Given the description of an element on the screen output the (x, y) to click on. 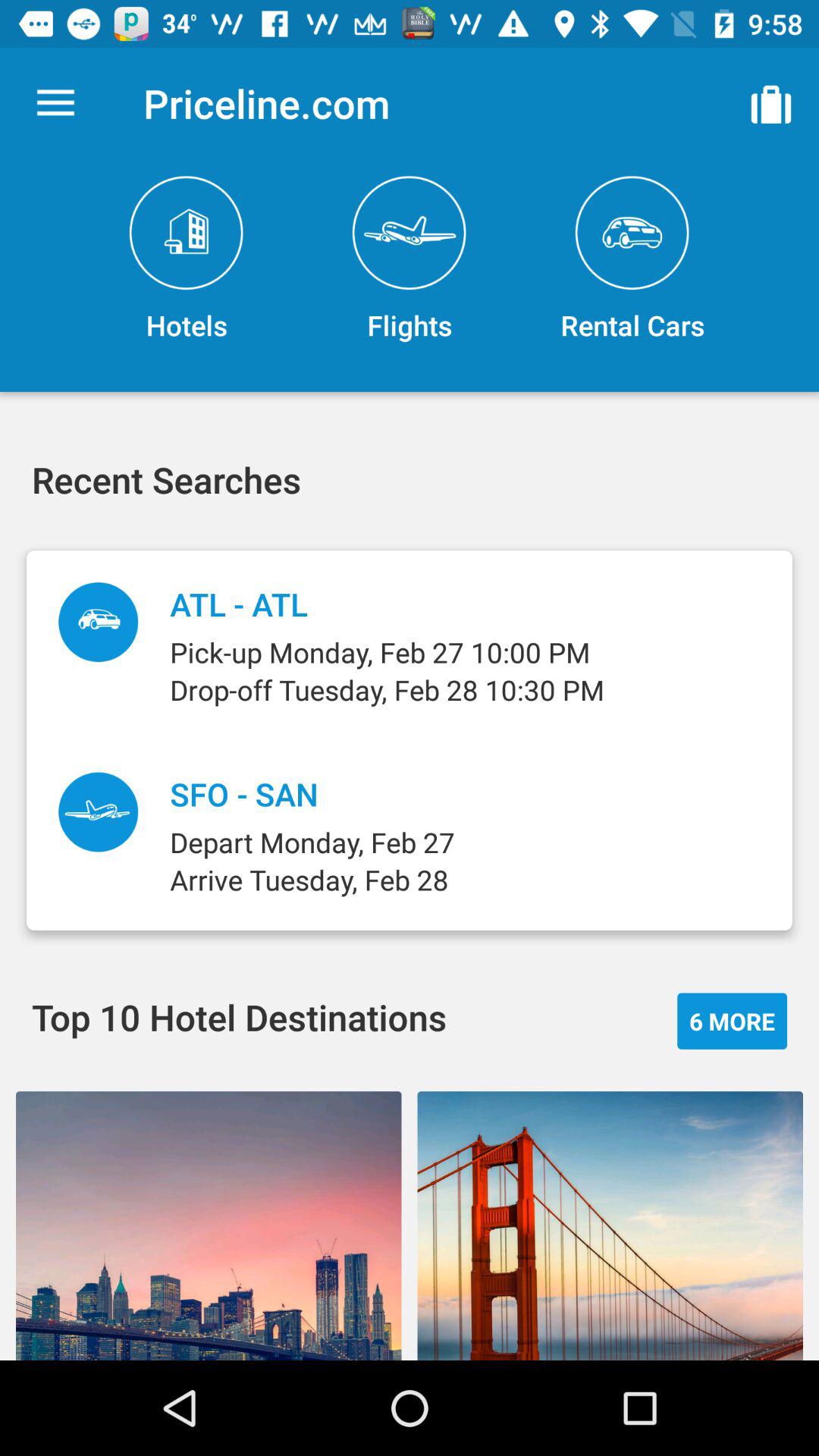
turn on icon to the right of the flights item (631, 259)
